Given the description of an element on the screen output the (x, y) to click on. 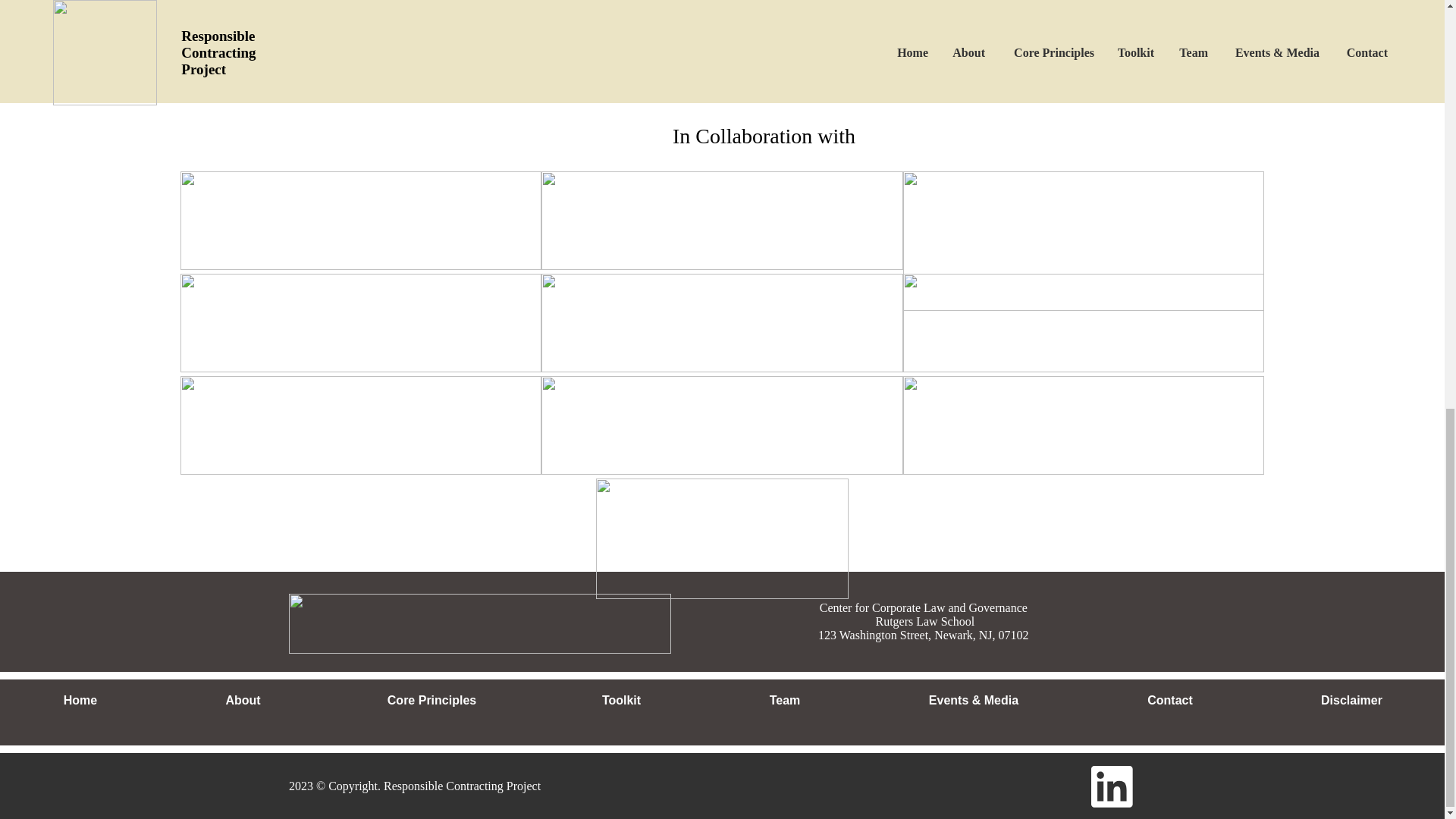
Home (80, 700)
Contact (1169, 700)
About (242, 700)
Toolkit (620, 700)
Core Principles (431, 700)
Team (783, 700)
